Given the description of an element on the screen output the (x, y) to click on. 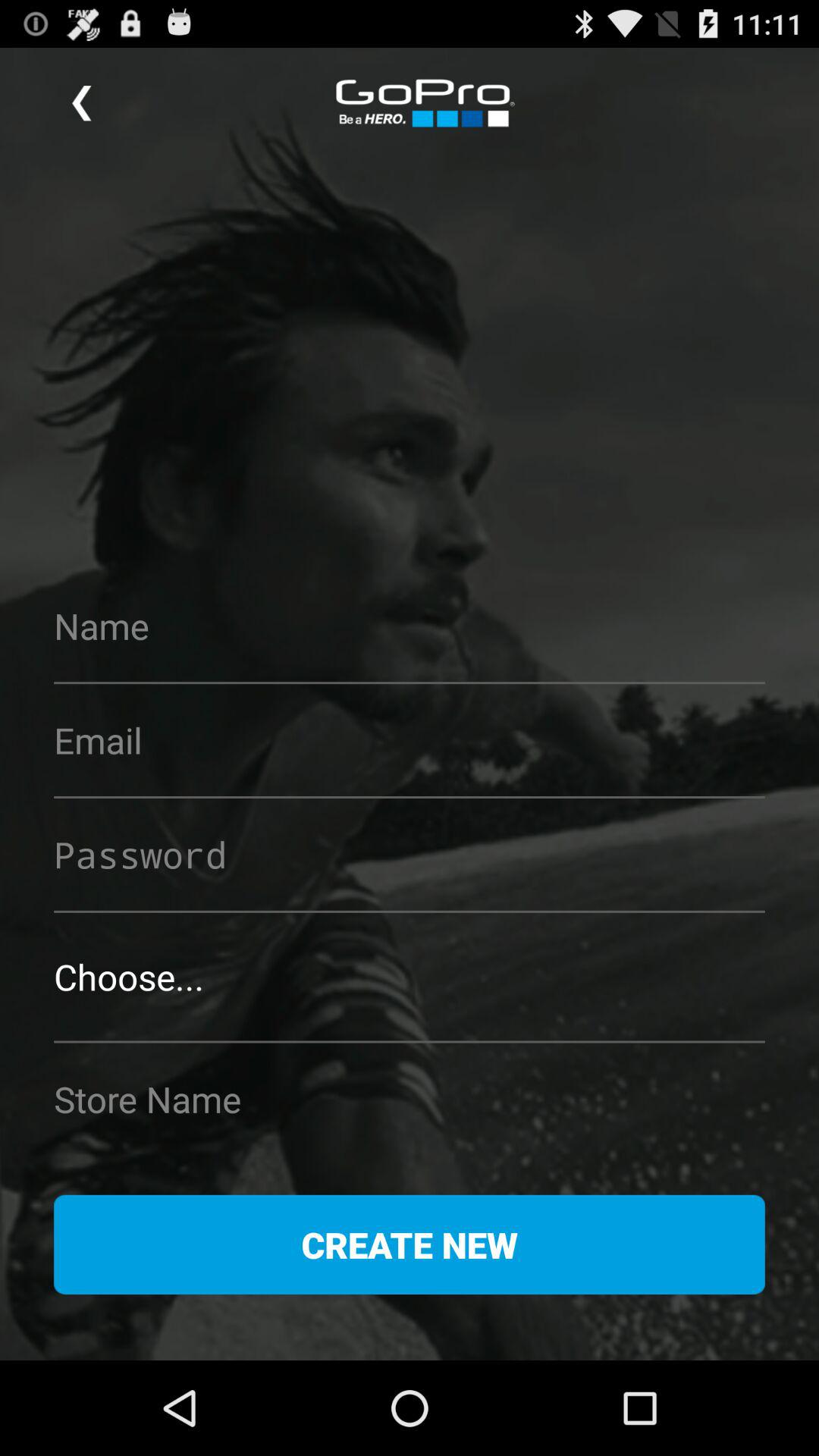
insert your name (409, 625)
